Given the description of an element on the screen output the (x, y) to click on. 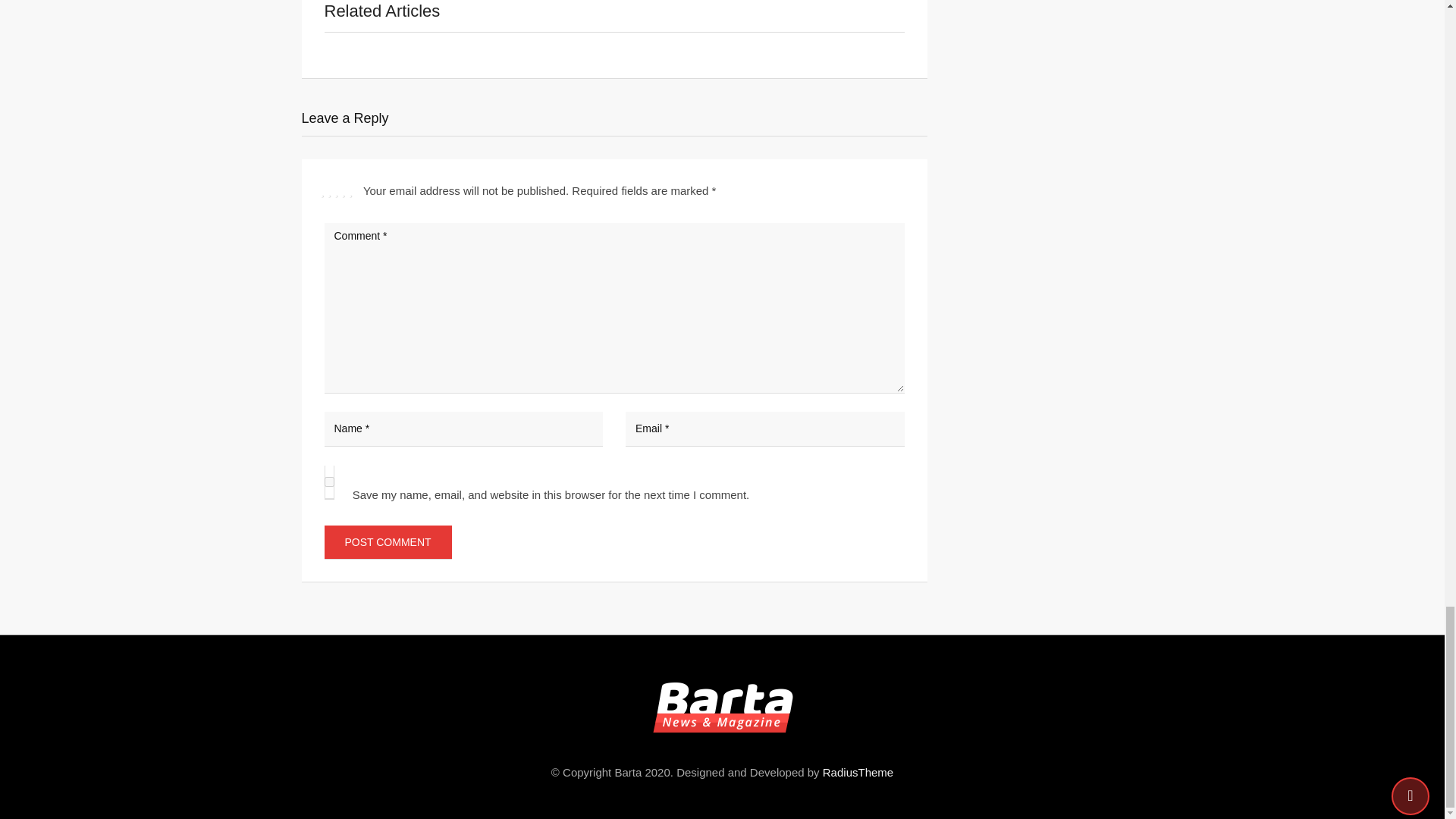
Post Comment (387, 541)
